Given the description of an element on the screen output the (x, y) to click on. 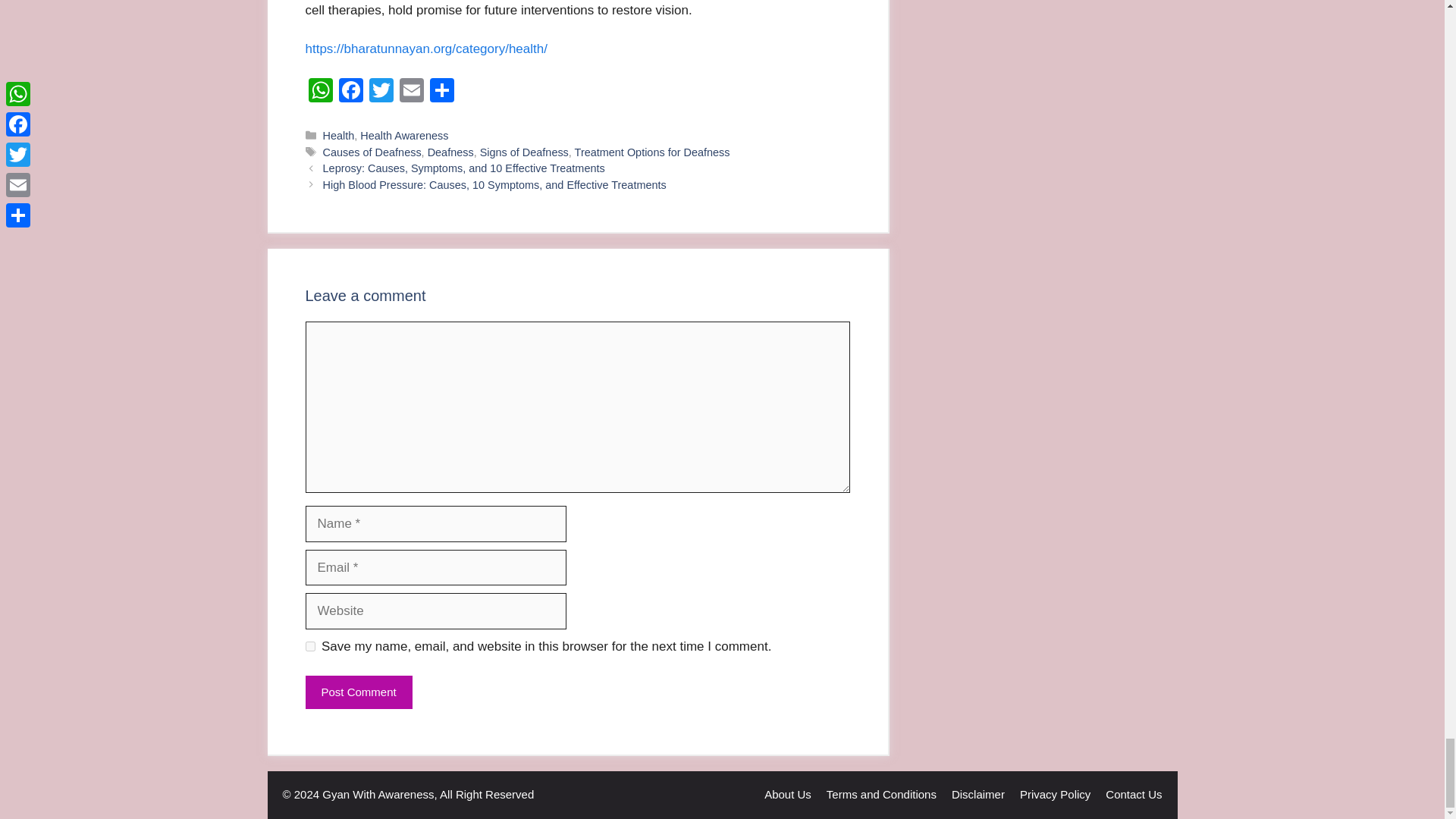
Treatment Options for Deafness (652, 152)
Deafness (451, 152)
Post Comment (358, 692)
Twitter (380, 91)
WhatsApp (319, 91)
Email (411, 91)
Post Comment (358, 692)
WhatsApp (319, 91)
Facebook (349, 91)
Twitter (380, 91)
yes (309, 646)
Health (339, 135)
Health Awareness (403, 135)
Facebook (349, 91)
